Given the description of an element on the screen output the (x, y) to click on. 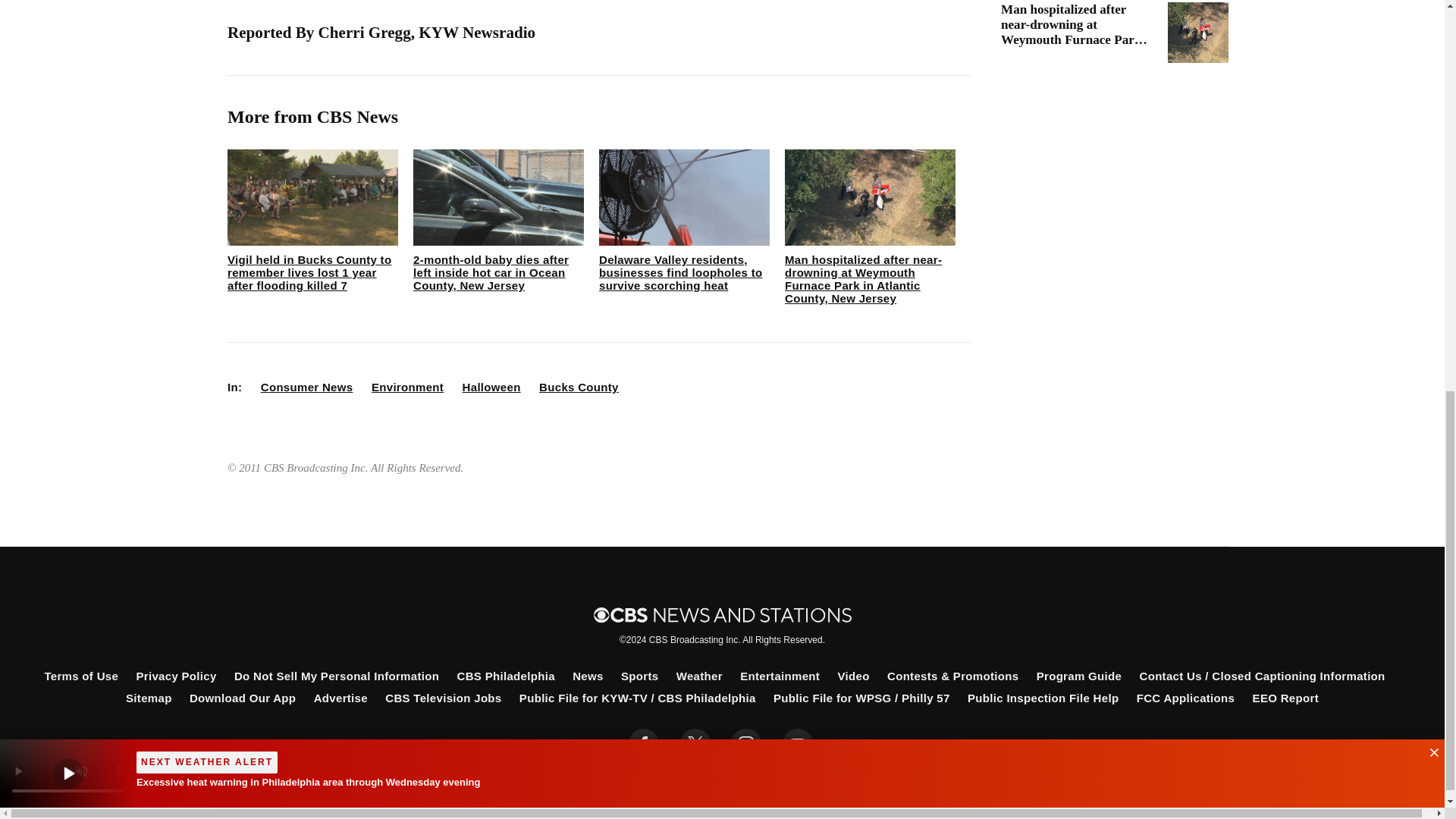
facebook (643, 743)
twitter (694, 743)
instagram (745, 743)
youtube (797, 743)
Watch CBS News (68, 18)
